Given the description of an element on the screen output the (x, y) to click on. 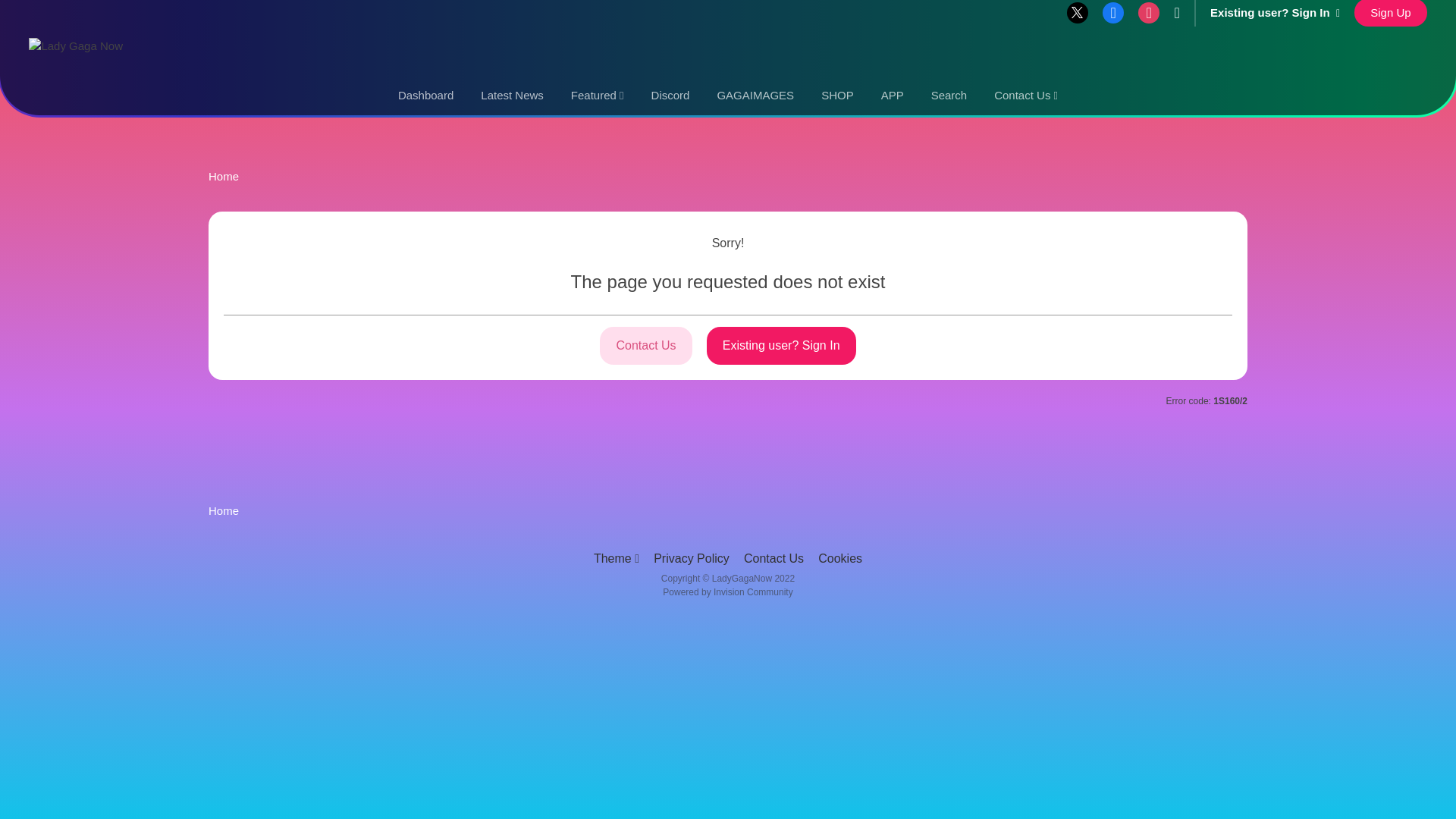
Contact Us (645, 345)
Home (223, 175)
SHOP (837, 95)
Discord (670, 95)
Existing user? Sign In   (1274, 11)
Contact Us (1025, 95)
Dashboard (425, 95)
Invision Community (727, 592)
GAGAIMAGES (755, 95)
Latest News (512, 95)
Home (223, 510)
Existing user? Sign In (781, 345)
Featured (597, 95)
Search (949, 95)
Sign Up (1390, 13)
